Given the description of an element on the screen output the (x, y) to click on. 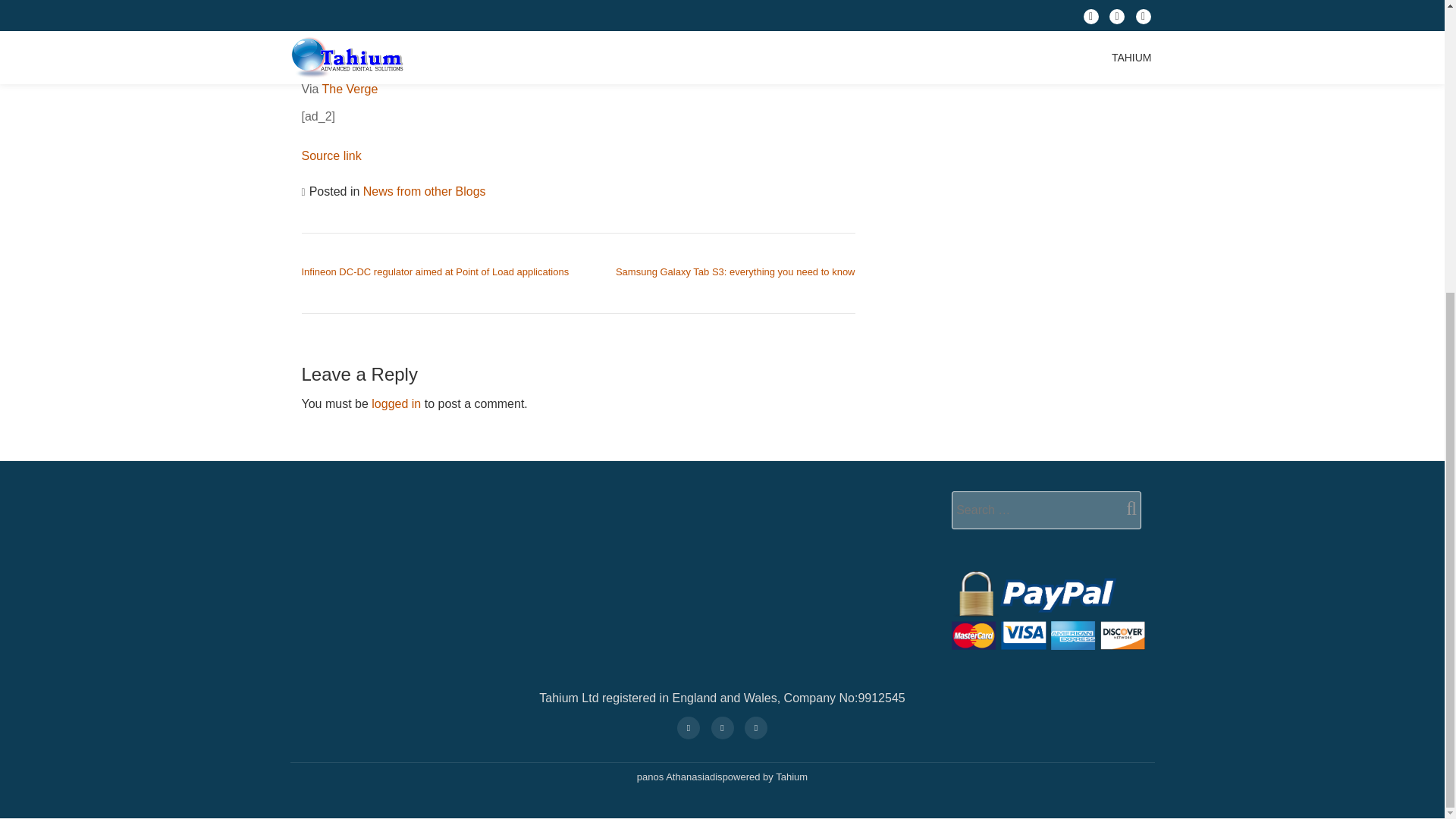
fa-twitter (756, 726)
logged in (395, 403)
Source link (331, 155)
Search (1125, 507)
Tahium (792, 776)
Search (1125, 507)
The Verge (349, 88)
Seiko Giugiaro 7A28-7000 (622, 61)
Search (1125, 507)
fa-facebook (721, 726)
